Given the description of an element on the screen output the (x, y) to click on. 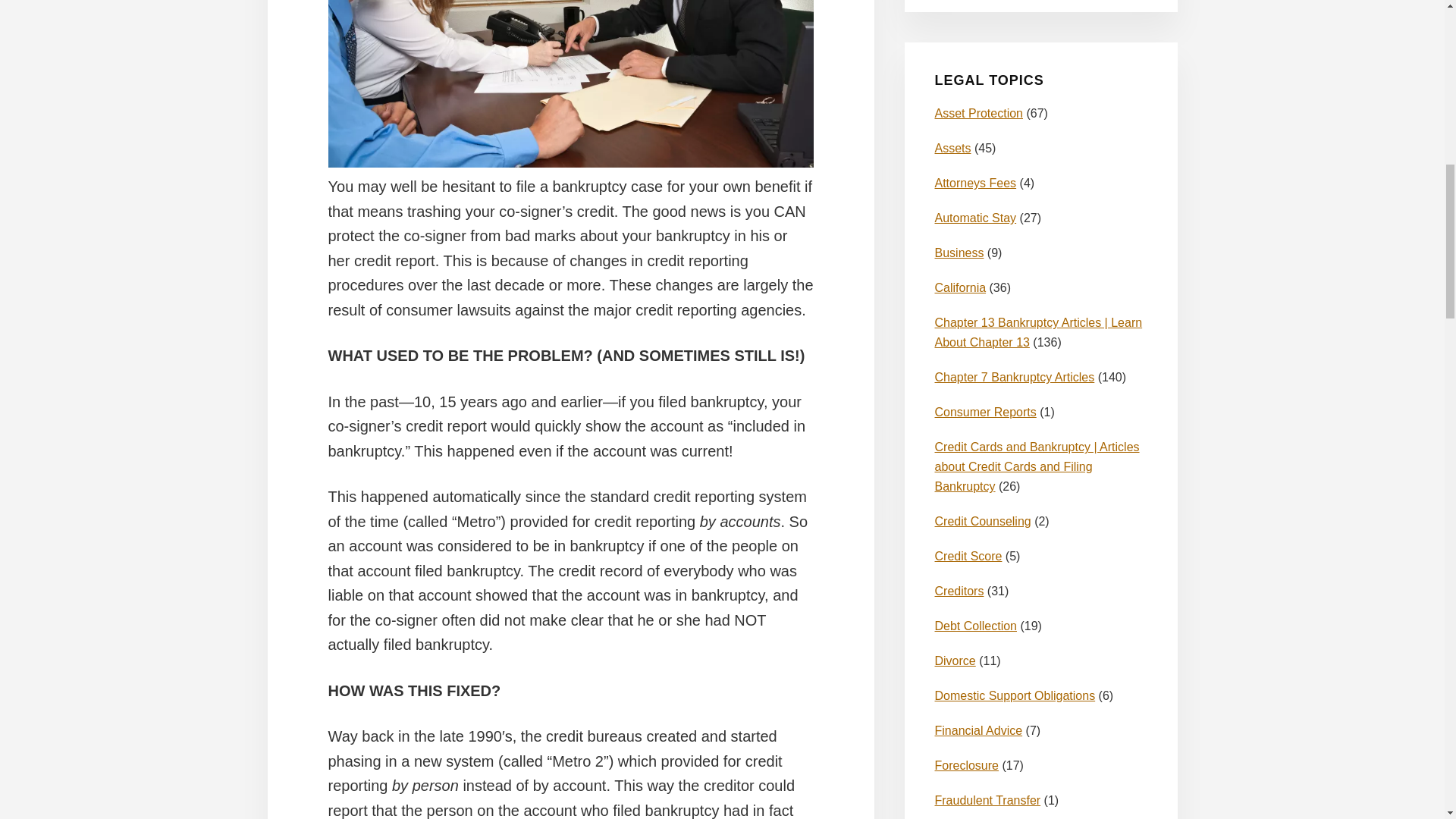
California (959, 287)
Attorneys Fees (975, 182)
Business (959, 252)
Credit Counseling (982, 521)
Chapter 7 Bankruptcy Articles (1014, 377)
Consumer Reports (984, 411)
Credit Score (967, 555)
Creditors (959, 590)
Asset Protection (978, 113)
Automatic Stay (975, 217)
Assets (952, 147)
